Given the description of an element on the screen output the (x, y) to click on. 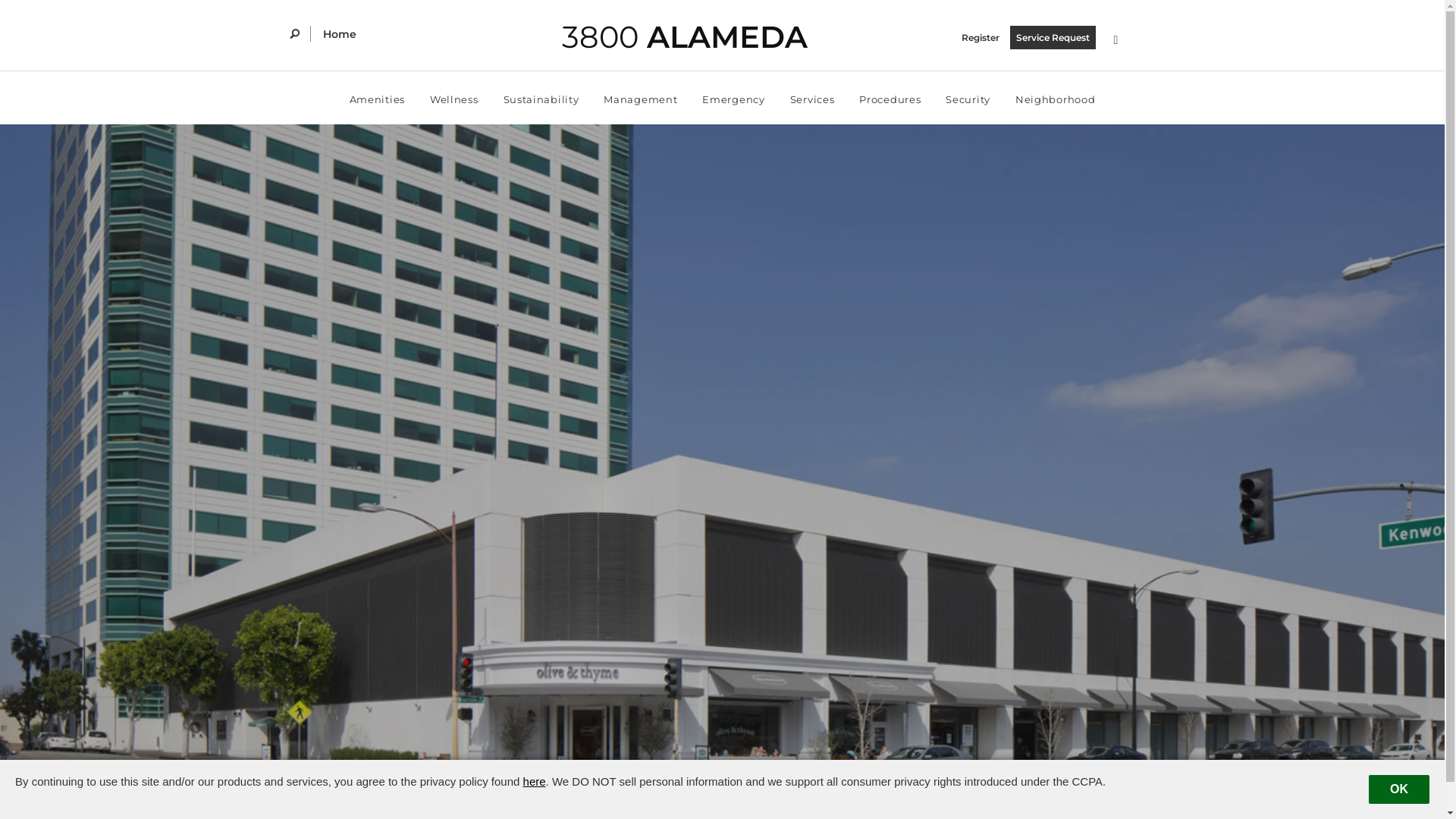
Procedures Element type: text (889, 97)
Services Element type: text (812, 97)
Service Request Element type: text (1052, 37)
(818) 846-6804 Element type: text (728, 803)
Home Element type: text (339, 33)
here Element type: text (534, 781)
Amenities Element type: text (376, 97)
Management Element type: text (640, 97)
Register Element type: text (984, 37)
Security Element type: text (967, 97)
Emergency Element type: text (733, 97)
Sustainability Element type: text (541, 97)
Wellness Element type: text (453, 97)
Neighborhood Element type: text (1055, 97)
